Given the description of an element on the screen output the (x, y) to click on. 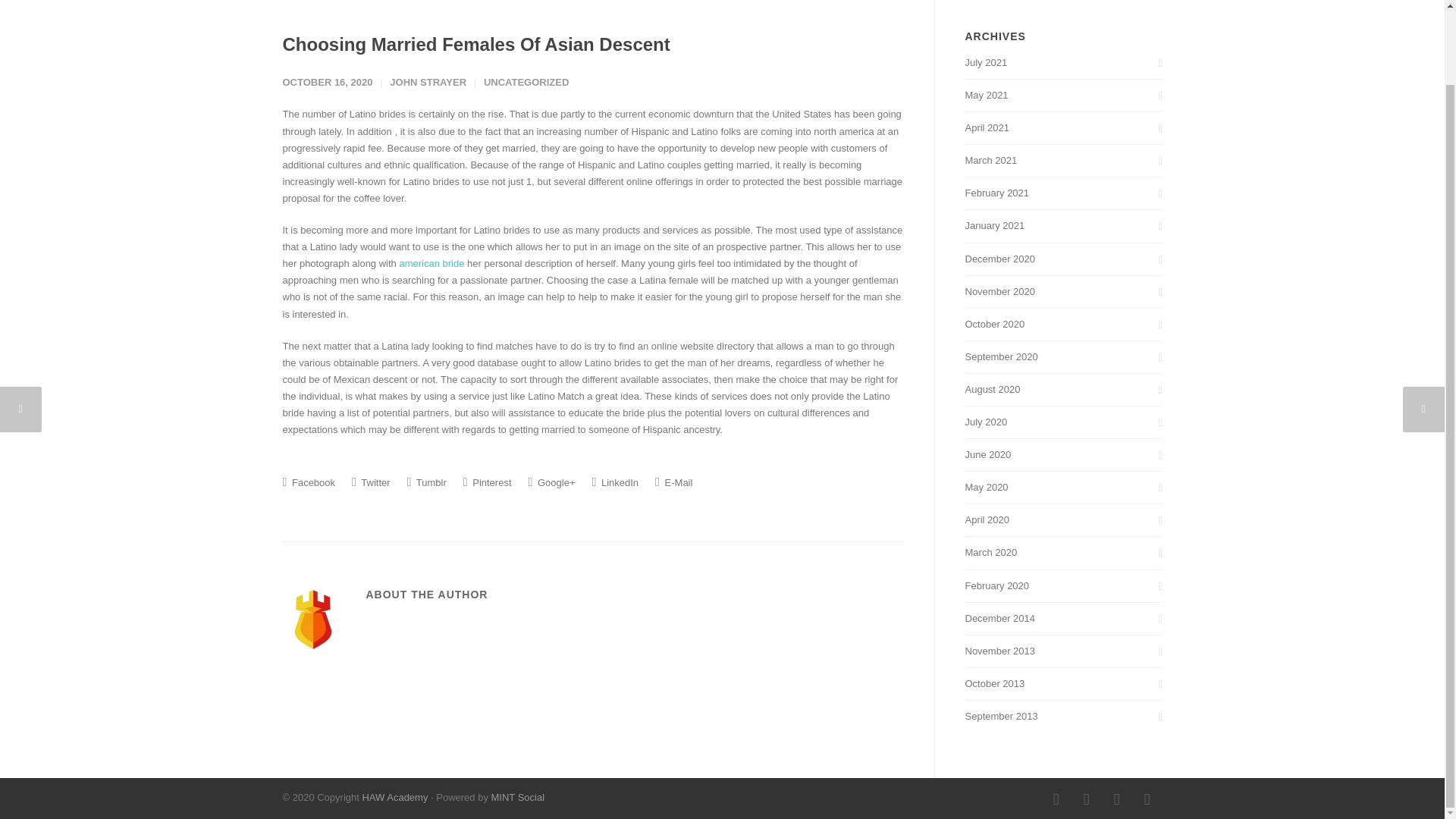
July 2020 (1062, 422)
April 2021 (1062, 127)
Pinterest (487, 482)
September 2020 (1062, 356)
E-Mail (674, 482)
LinkedIn (1085, 798)
December 2014 (1062, 618)
Choosing Married Females Of Asian Descent (475, 44)
May 2020 (1062, 487)
Tumblr (1146, 798)
October 2020 (1062, 324)
Twitter (1115, 798)
UNCATEGORIZED (526, 81)
April 2020 (1062, 519)
June 2020 (1062, 454)
